Given the description of an element on the screen output the (x, y) to click on. 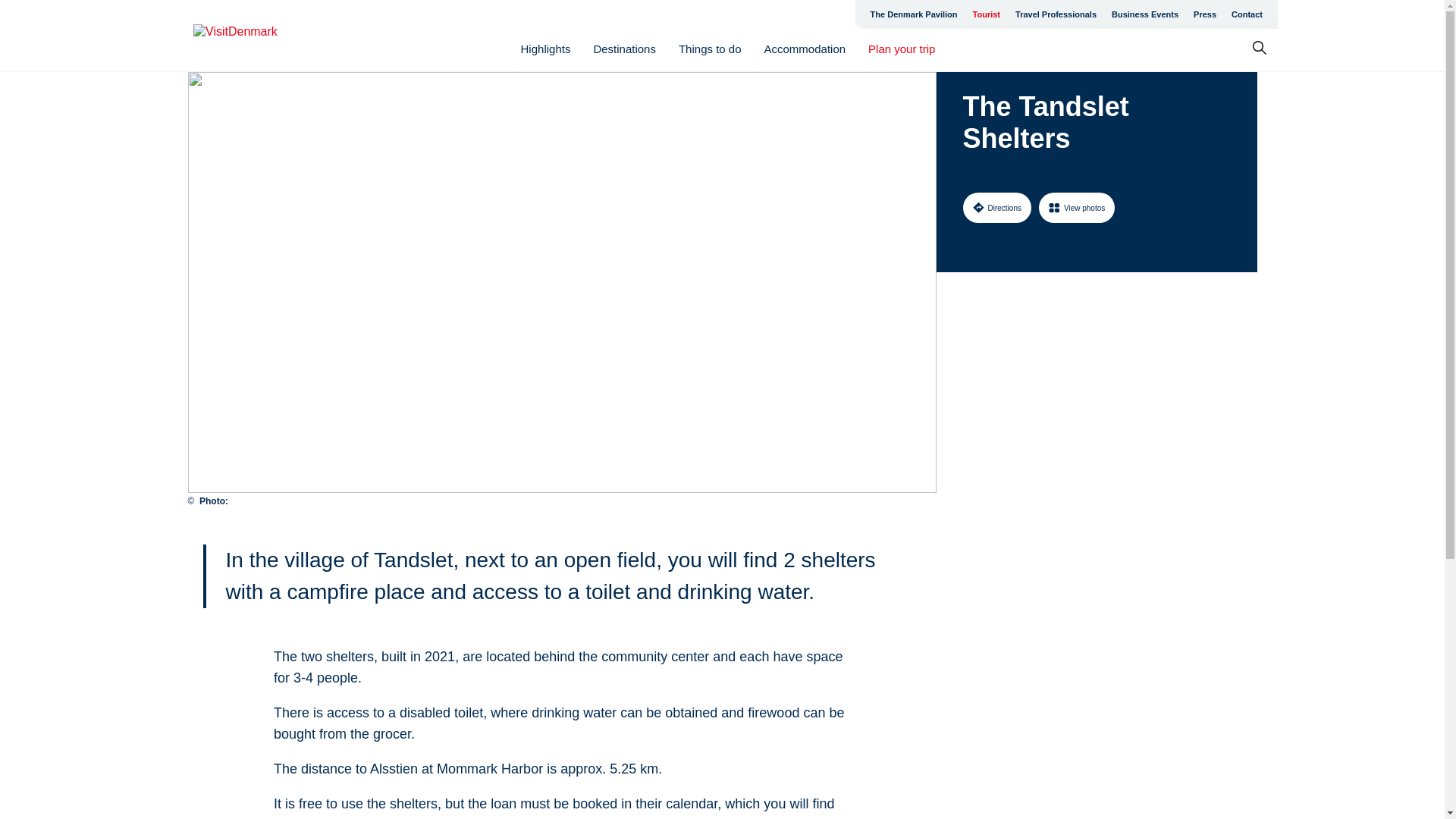
Things to do (709, 48)
Plan your trip (900, 48)
Business Events (1144, 14)
Contact (1246, 14)
Accommodation (804, 48)
Destinations (624, 48)
View photos (1077, 207)
Press (1205, 14)
The Denmark Pavilion (914, 14)
Directions (996, 207)
